Given the description of an element on the screen output the (x, y) to click on. 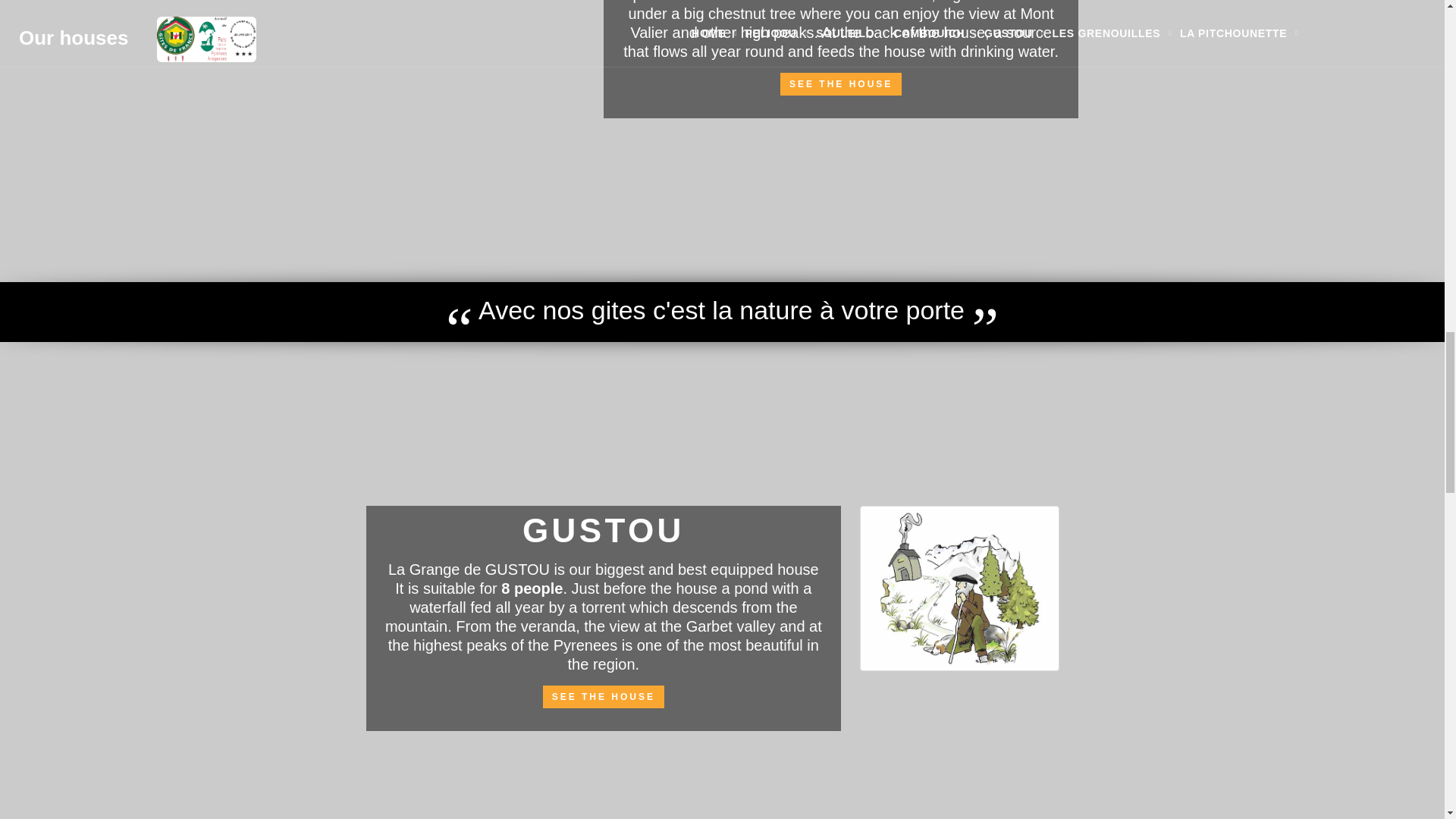
SEE THE HOUSE (840, 83)
SEE THE HOUSE (603, 696)
